Given the description of an element on the screen output the (x, y) to click on. 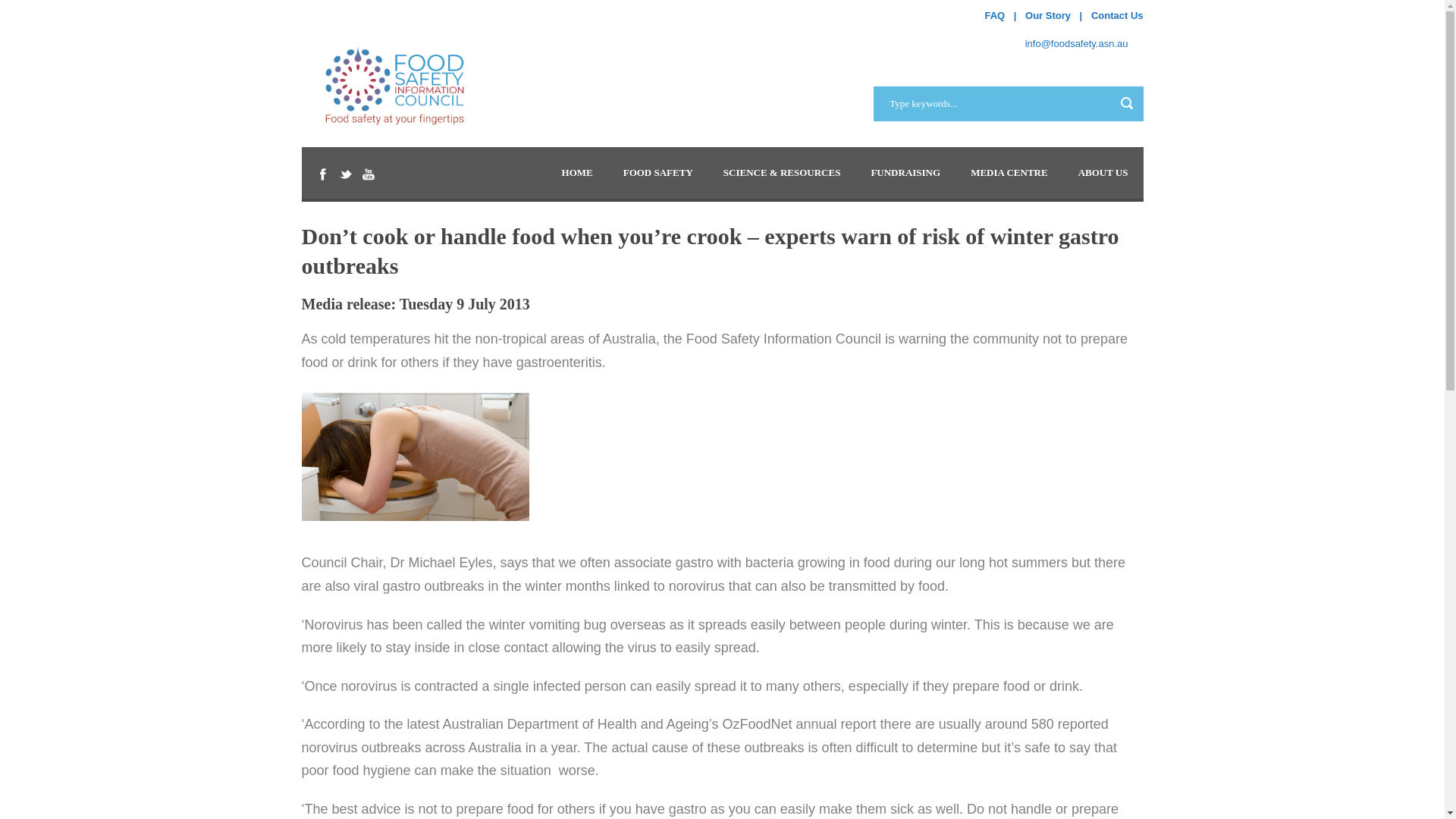
Our Story (1047, 15)
FAQ (994, 15)
Type keywords... (1007, 103)
Contact Us (1116, 15)
